Given the description of an element on the screen output the (x, y) to click on. 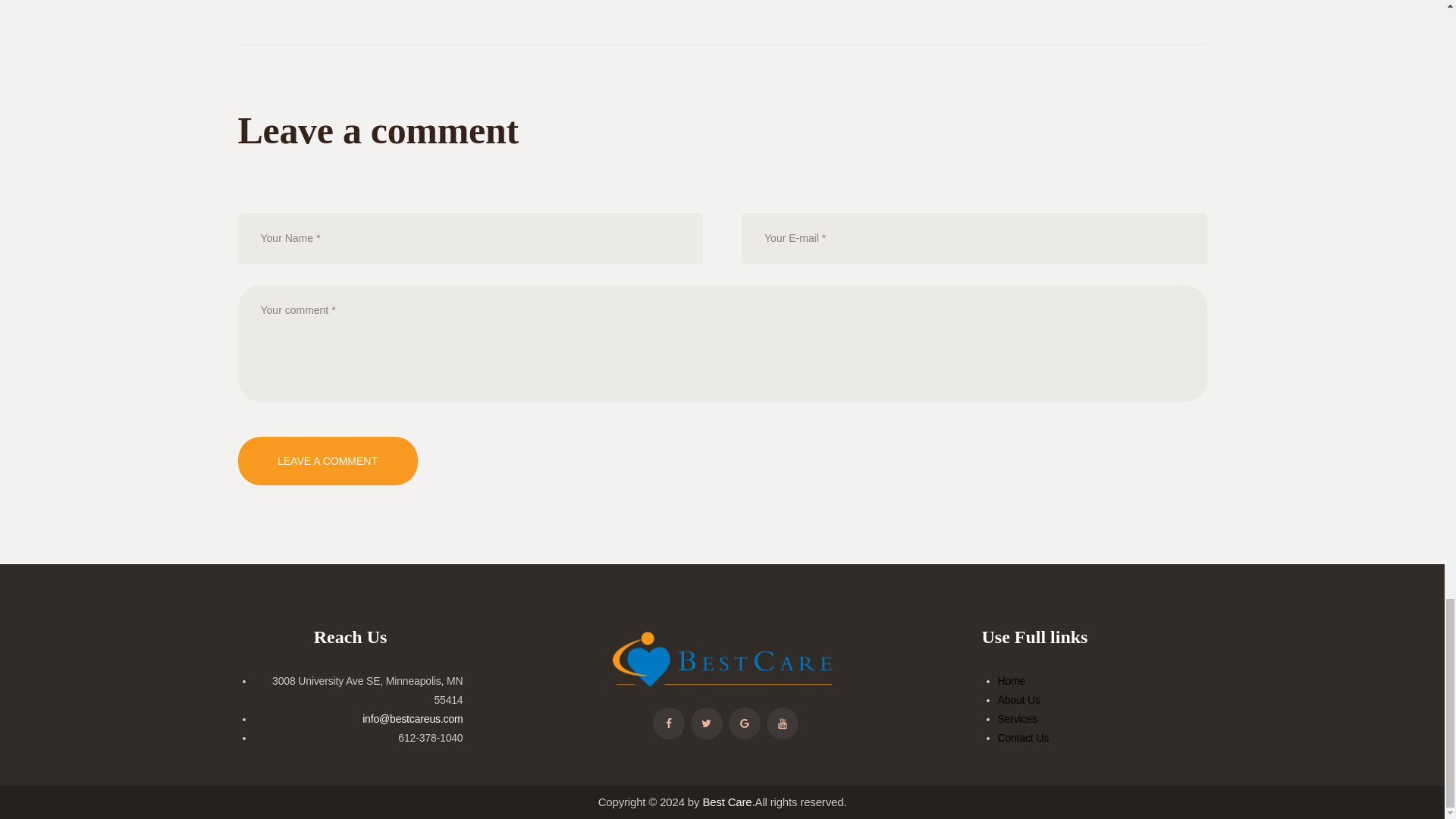
Leave a comment (327, 460)
best care copy (721, 659)
